Given the description of an element on the screen output the (x, y) to click on. 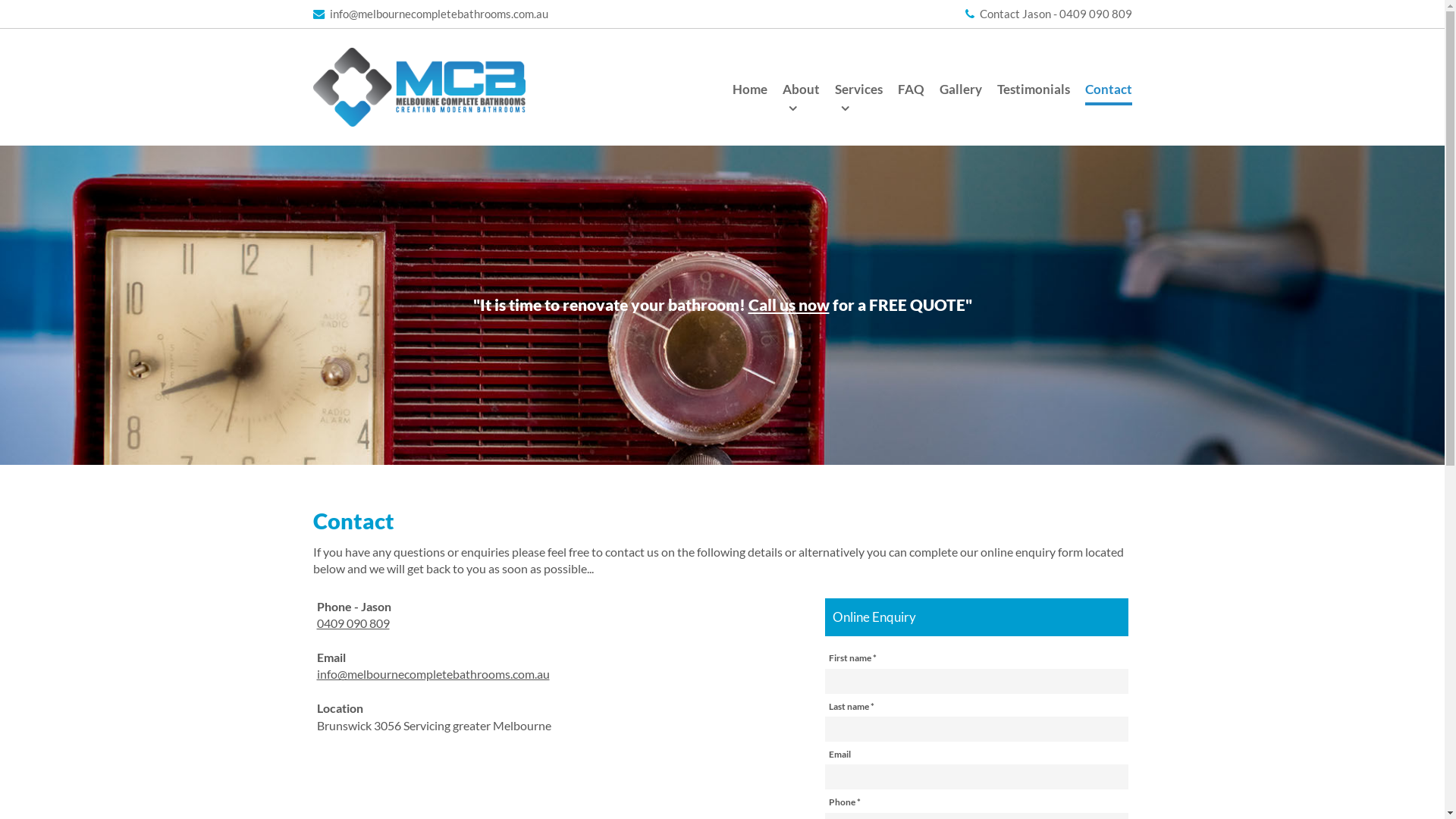
0409 090 809 Element type: text (352, 622)
Gallery Element type: text (959, 93)
info@melbournecompletebathrooms.com.au Element type: text (432, 673)
Call us now Element type: text (787, 303)
Contact Element type: text (1107, 93)
FAQ Element type: text (910, 93)
Home Element type: text (749, 93)
Services Element type: text (857, 93)
Testimonials Element type: text (1032, 93)
info@melbournecompletebathrooms.com.au Element type: text (429, 13)
About Element type: text (800, 93)
